Given the description of an element on the screen output the (x, y) to click on. 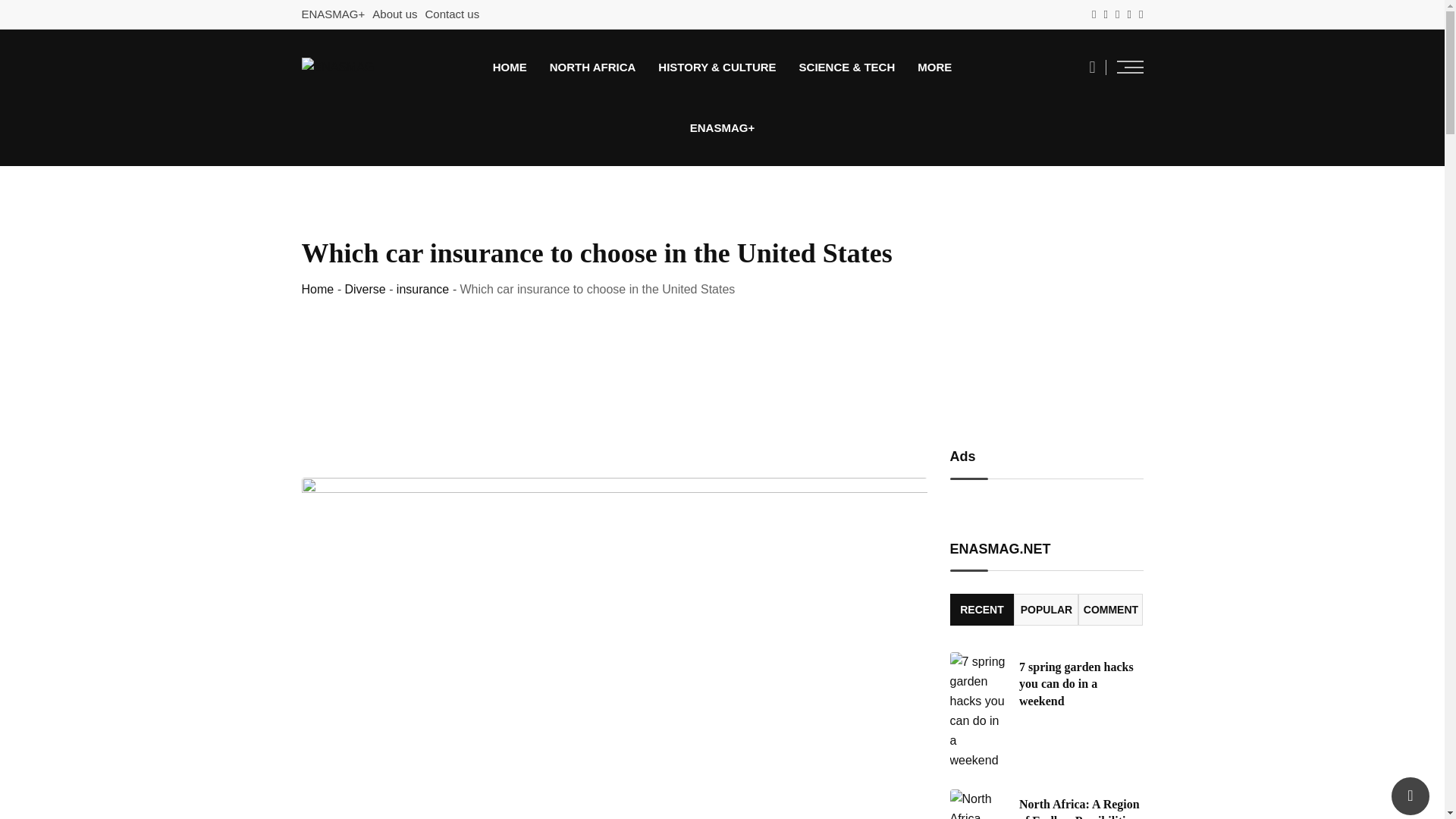
Contact us (452, 13)
About us (394, 13)
HOME (509, 66)
NORTH AFRICA (592, 66)
Home (317, 288)
MORE (933, 66)
